Given the description of an element on the screen output the (x, y) to click on. 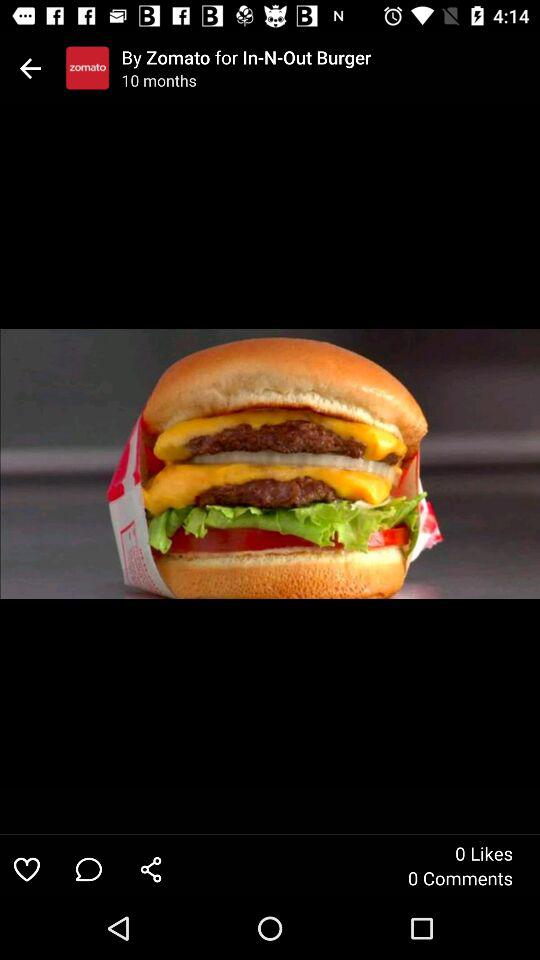
turn off icon next to 0 comments (151, 868)
